Given the description of an element on the screen output the (x, y) to click on. 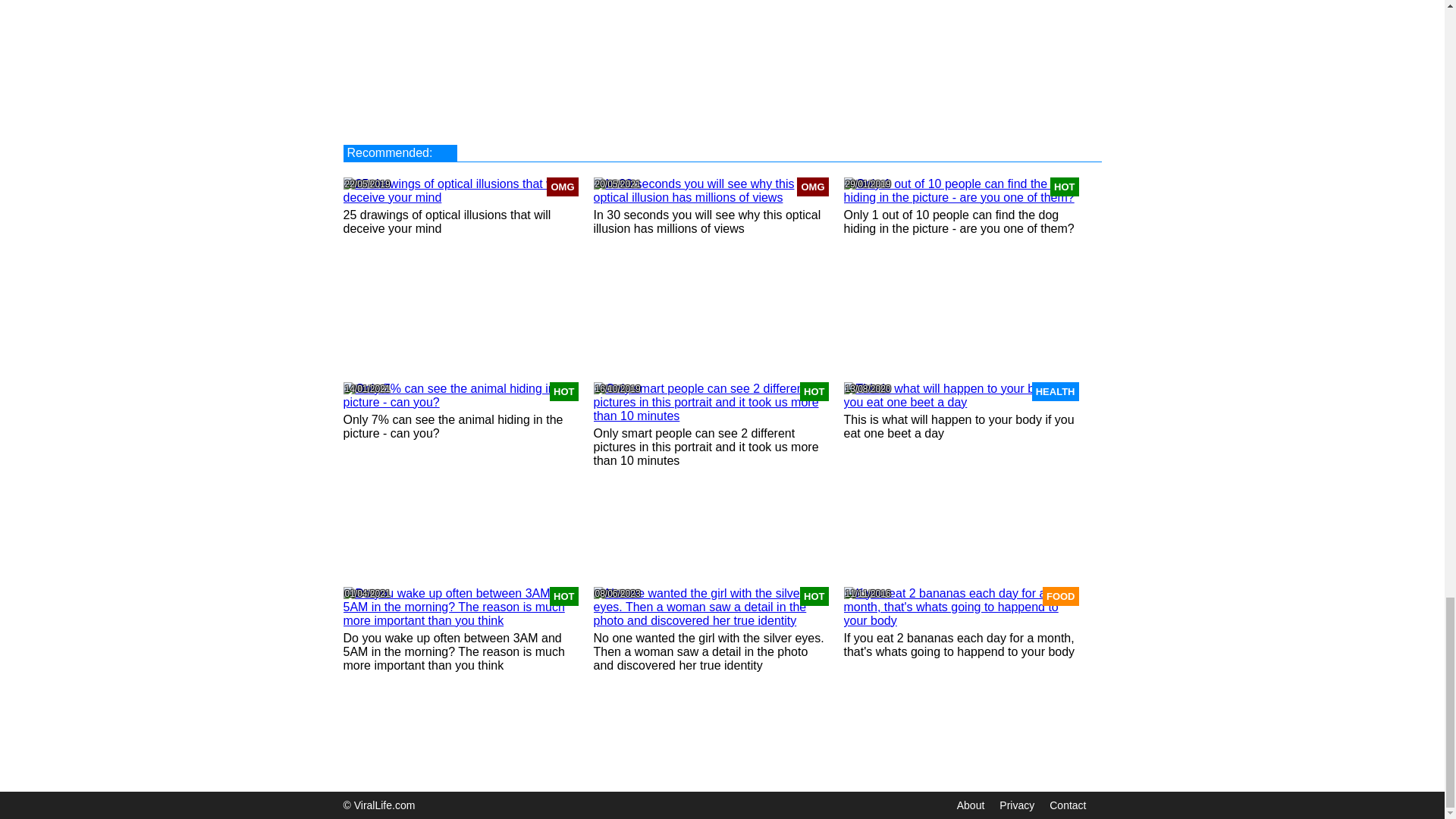
25 drawings of optical illusions that will deceive your mind (460, 190)
25 drawings of optical illusions that will deceive your mind (446, 221)
25 drawings of optical illusions that will deceive your mind (446, 221)
